Given the description of an element on the screen output the (x, y) to click on. 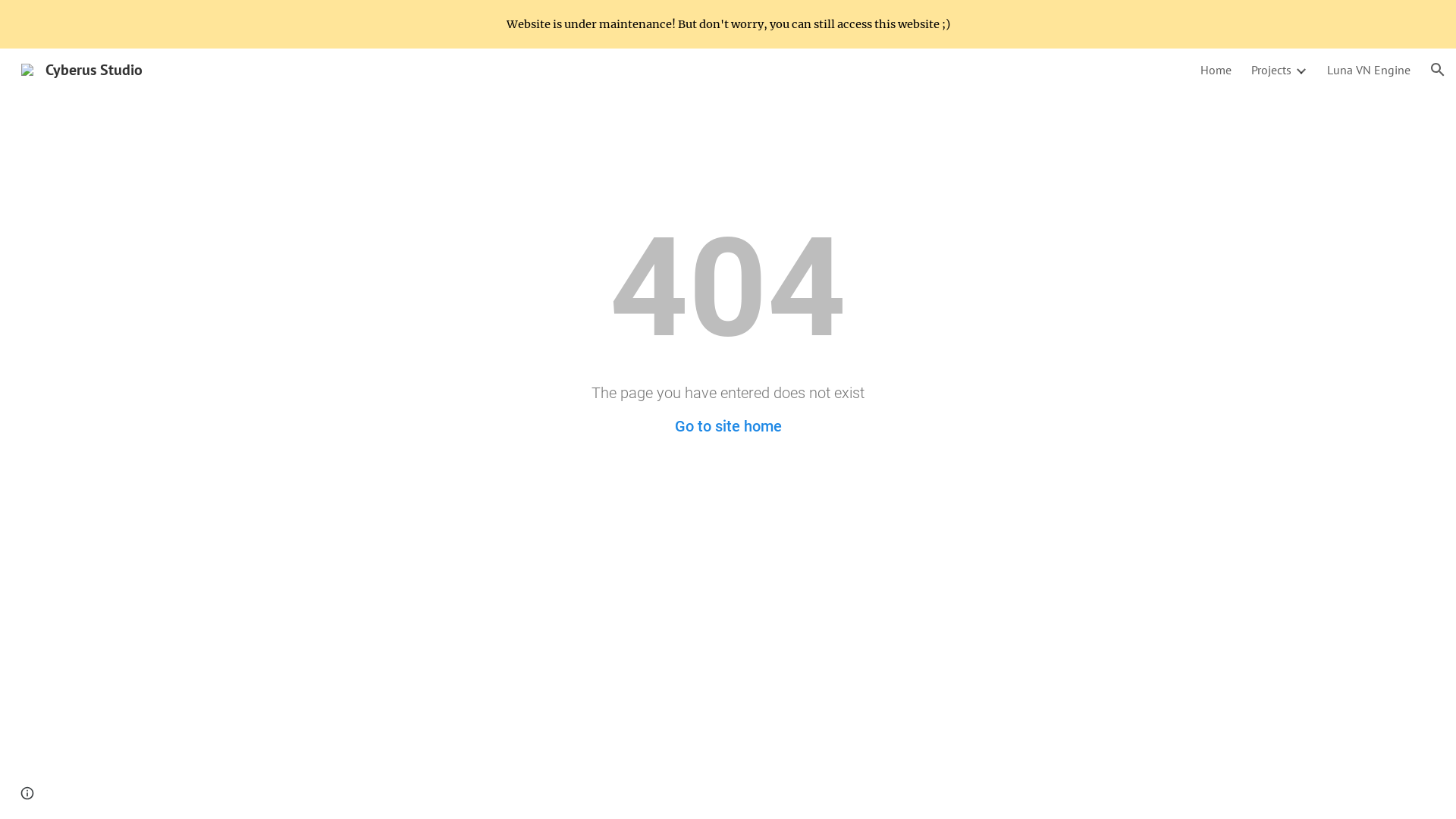
Luna VN Engine Element type: text (1368, 69)
Go to site home Element type: text (727, 426)
Home Element type: text (1215, 69)
Projects Element type: text (1271, 69)
Expand/Collapse Element type: hover (1300, 69)
Cyberus Studio Element type: text (81, 68)
